Given the description of an element on the screen output the (x, y) to click on. 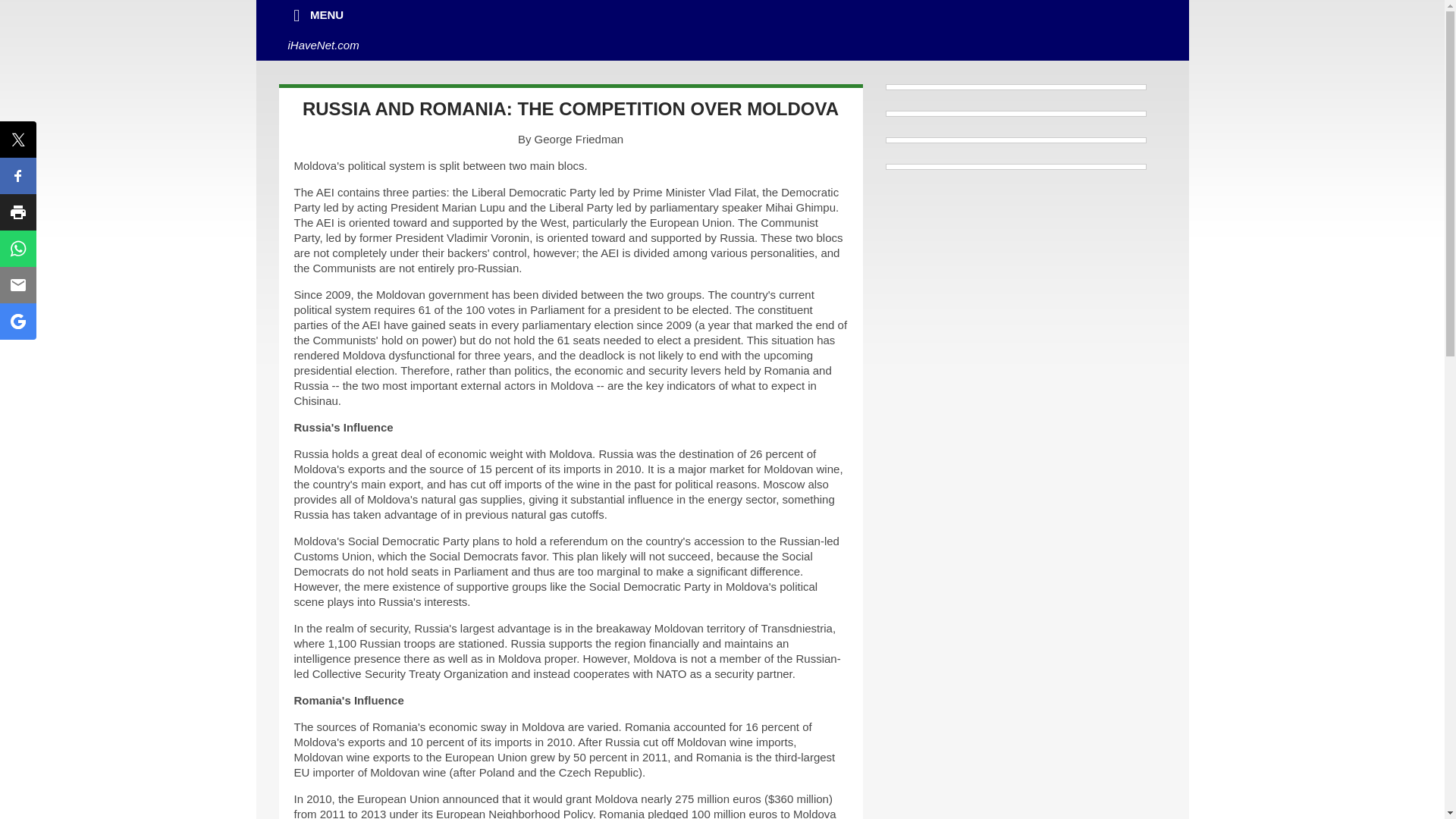
MENU (316, 15)
